Given the description of an element on the screen output the (x, y) to click on. 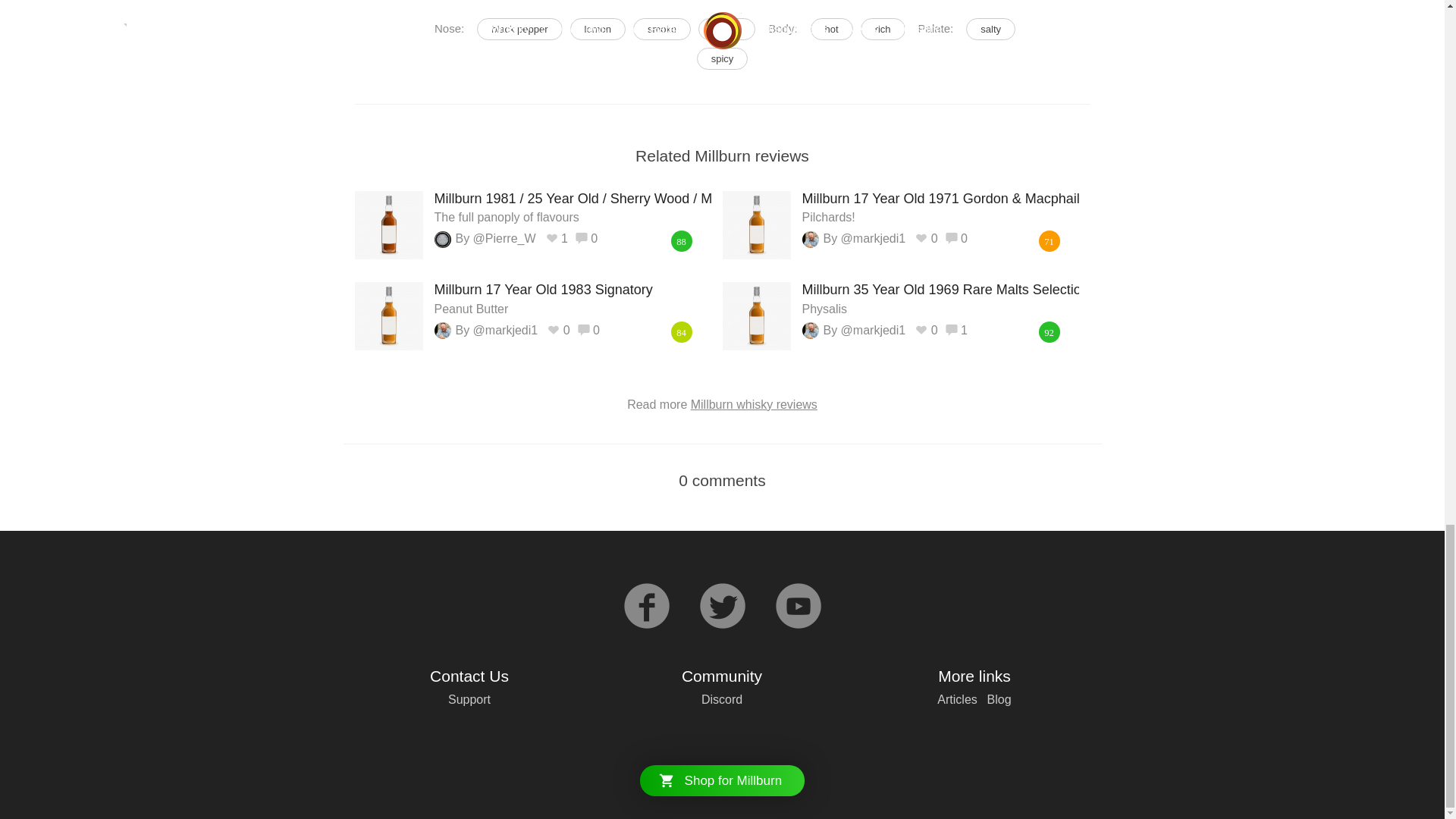
smoke (661, 29)
salty (990, 29)
spicy (722, 58)
smoke (571, 298)
rich (661, 29)
vanilla (940, 298)
lemon (882, 29)
hot (726, 29)
lemon (598, 29)
spicy (831, 29)
vanilla (598, 29)
hot (722, 58)
rich (726, 29)
